Given the description of an element on the screen output the (x, y) to click on. 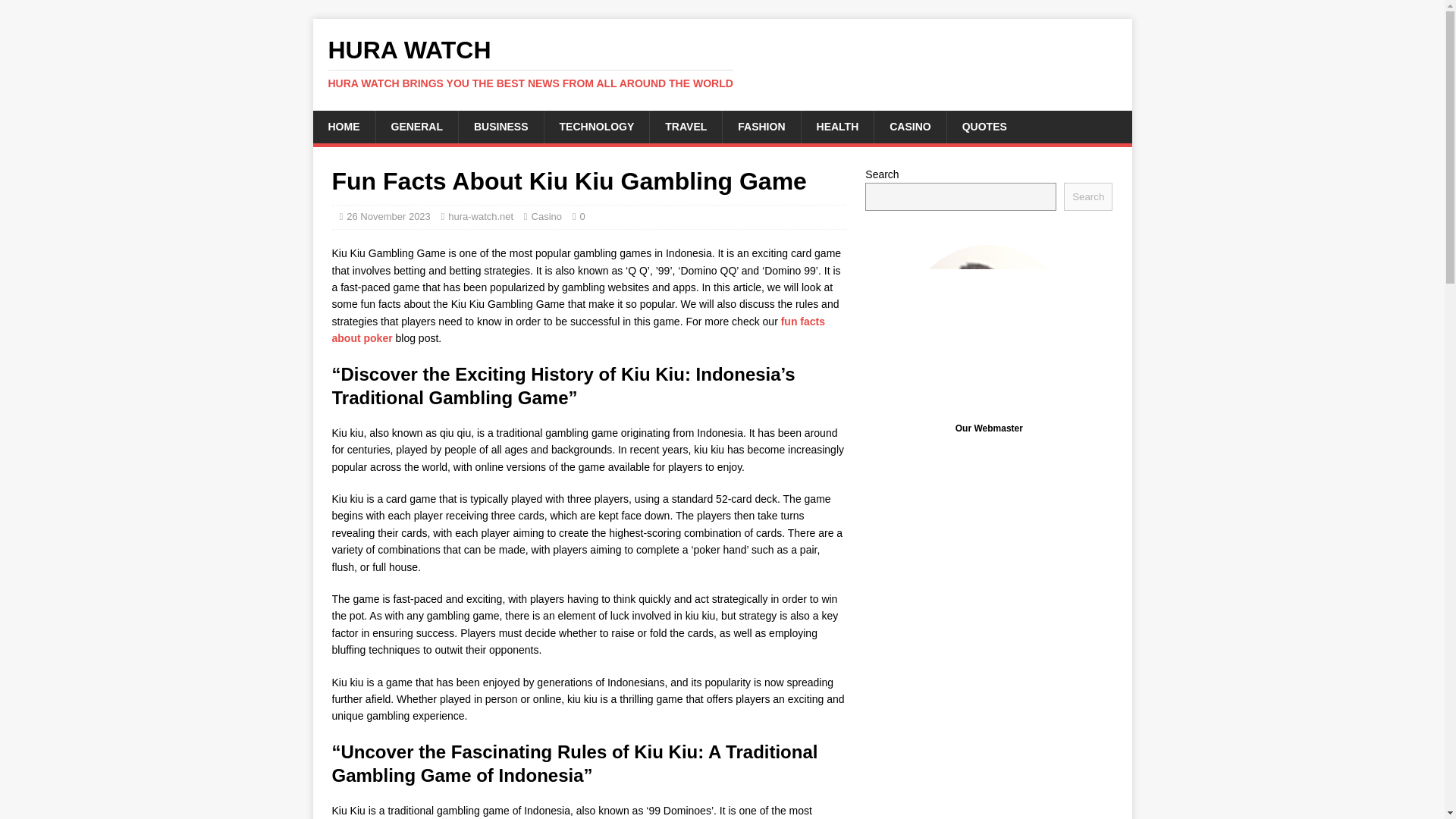
BUSINESS (500, 126)
TRAVEL (685, 126)
CASINO (908, 126)
Hura Watch (721, 63)
fun facts about poker (578, 329)
HEALTH (837, 126)
TECHNOLOGY (596, 126)
QUOTES (984, 126)
26 November 2023 (388, 215)
